Given the description of an element on the screen output the (x, y) to click on. 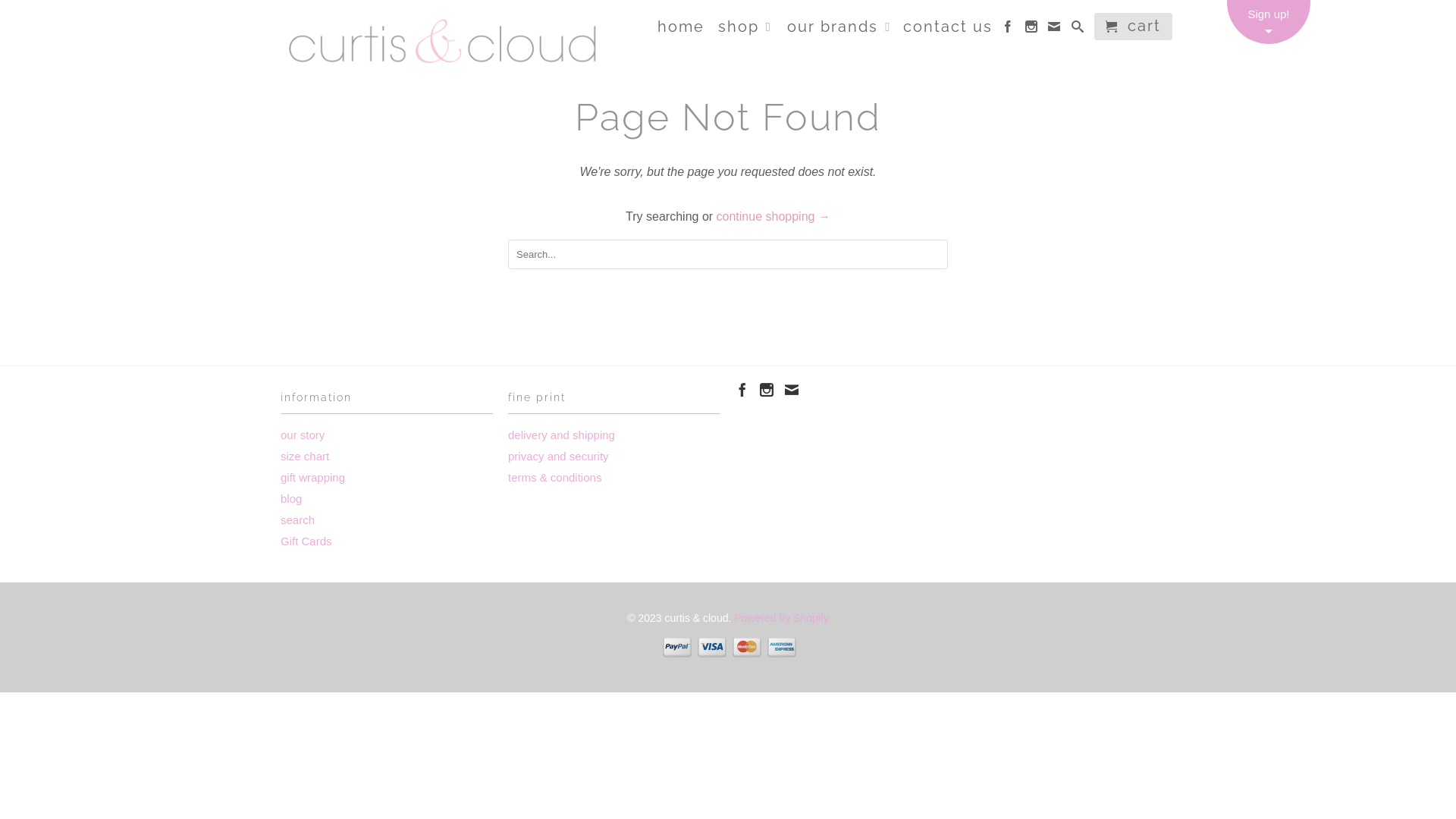
curtis & cloud on Instagram Element type: hover (766, 389)
Powered by Shopify Element type: text (781, 617)
gift wrapping Element type: text (312, 476)
curtis & cloud on Facebook Element type: hover (742, 389)
blog Element type: text (290, 498)
curtis & cloud on Instagram Element type: hover (1031, 29)
Email curtis & cloud Element type: hover (791, 389)
Search Element type: hover (1078, 29)
home Element type: text (680, 29)
Email curtis & cloud Element type: hover (1054, 29)
delivery and shipping Element type: text (561, 434)
Gift Cards Element type: text (306, 540)
curtis & cloud Element type: hover (443, 41)
our story Element type: text (302, 434)
size chart Element type: text (304, 455)
search Element type: text (297, 519)
terms & conditions Element type: text (554, 476)
privacy and security Element type: text (558, 455)
cart Element type: text (1133, 26)
curtis & cloud on Facebook Element type: hover (1008, 29)
contact us Element type: text (947, 29)
